Given the description of an element on the screen output the (x, y) to click on. 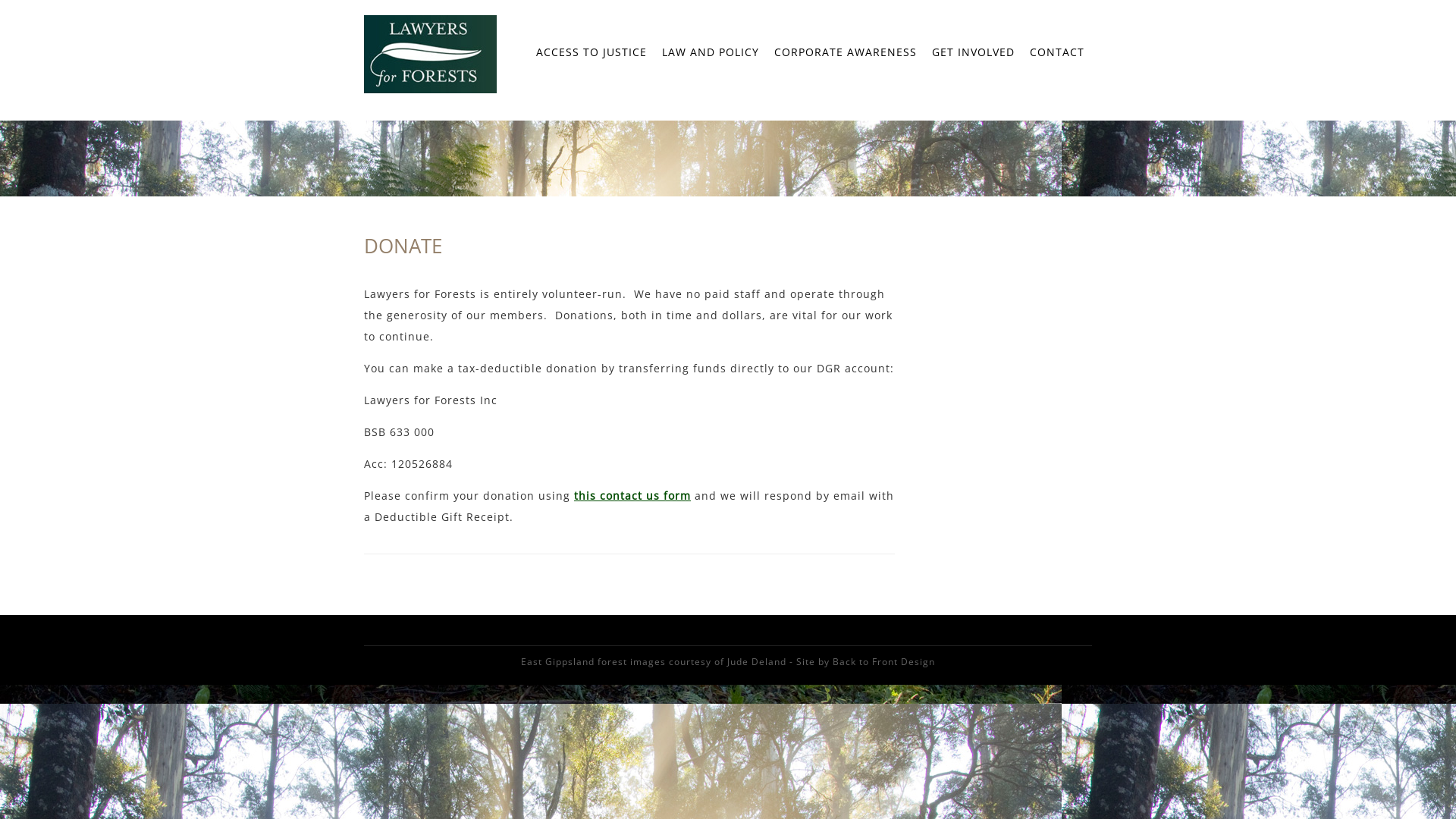
Lawyers for Forests Element type: hover (430, 89)
LAW AND POLICY Element type: text (710, 51)
GET INVOLVED Element type: text (973, 51)
Back to Front Design Element type: text (883, 661)
ACCESS TO JUSTICE Element type: text (591, 51)
CORPORATE AWARENESS Element type: text (845, 51)
CONTACT Element type: text (1057, 51)
this contact us form Element type: text (632, 495)
